Given the description of an element on the screen output the (x, y) to click on. 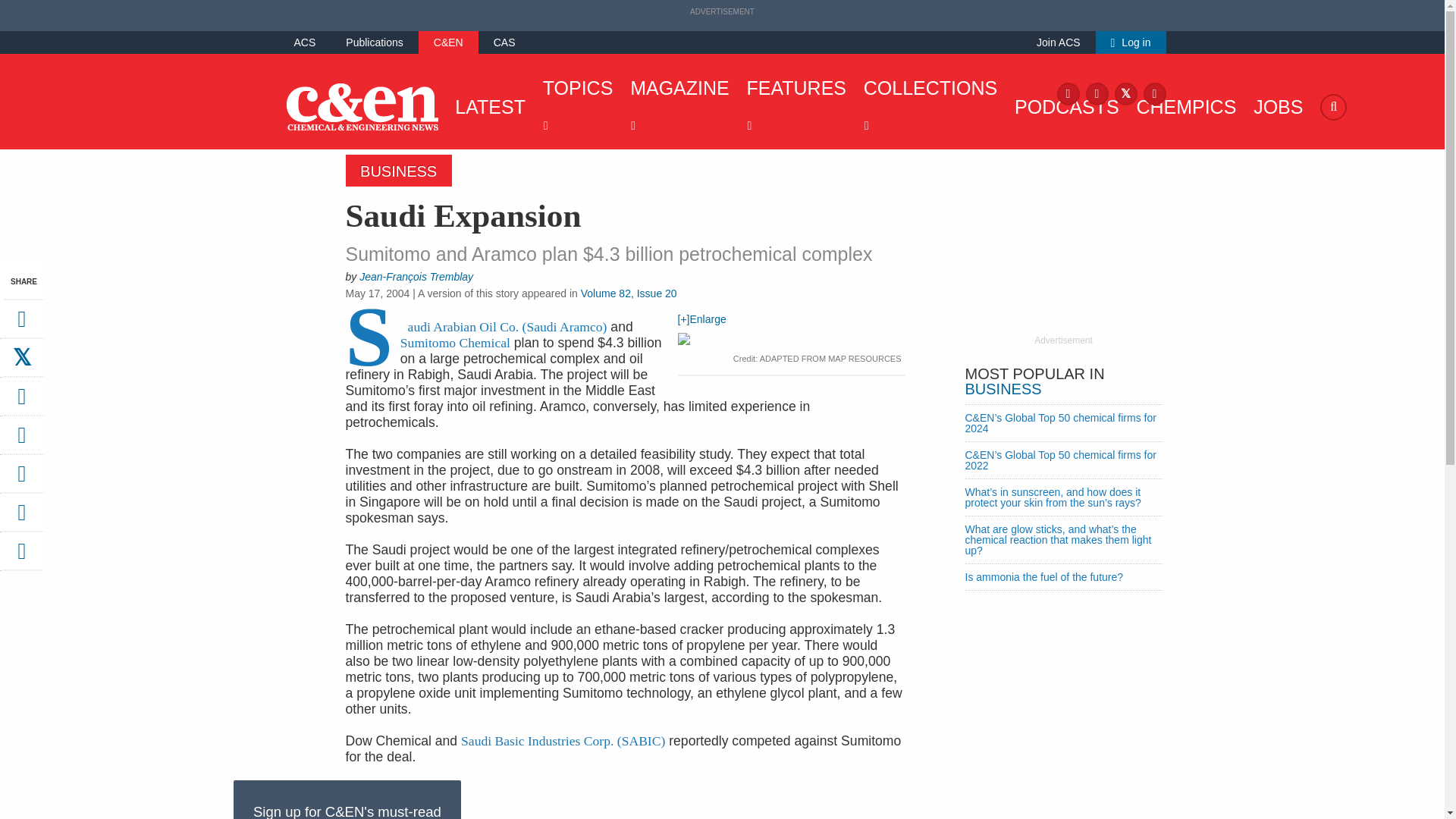
TOPICS (573, 106)
Log in (1130, 42)
Publications (374, 42)
LATEST (485, 106)
Instagram (1097, 92)
Join ACS (1058, 42)
WeChat (21, 479)
X (1126, 92)
LinkedIn (1154, 92)
Facebook (1068, 92)
CAS (504, 42)
ACS (304, 42)
